Given the description of an element on the screen output the (x, y) to click on. 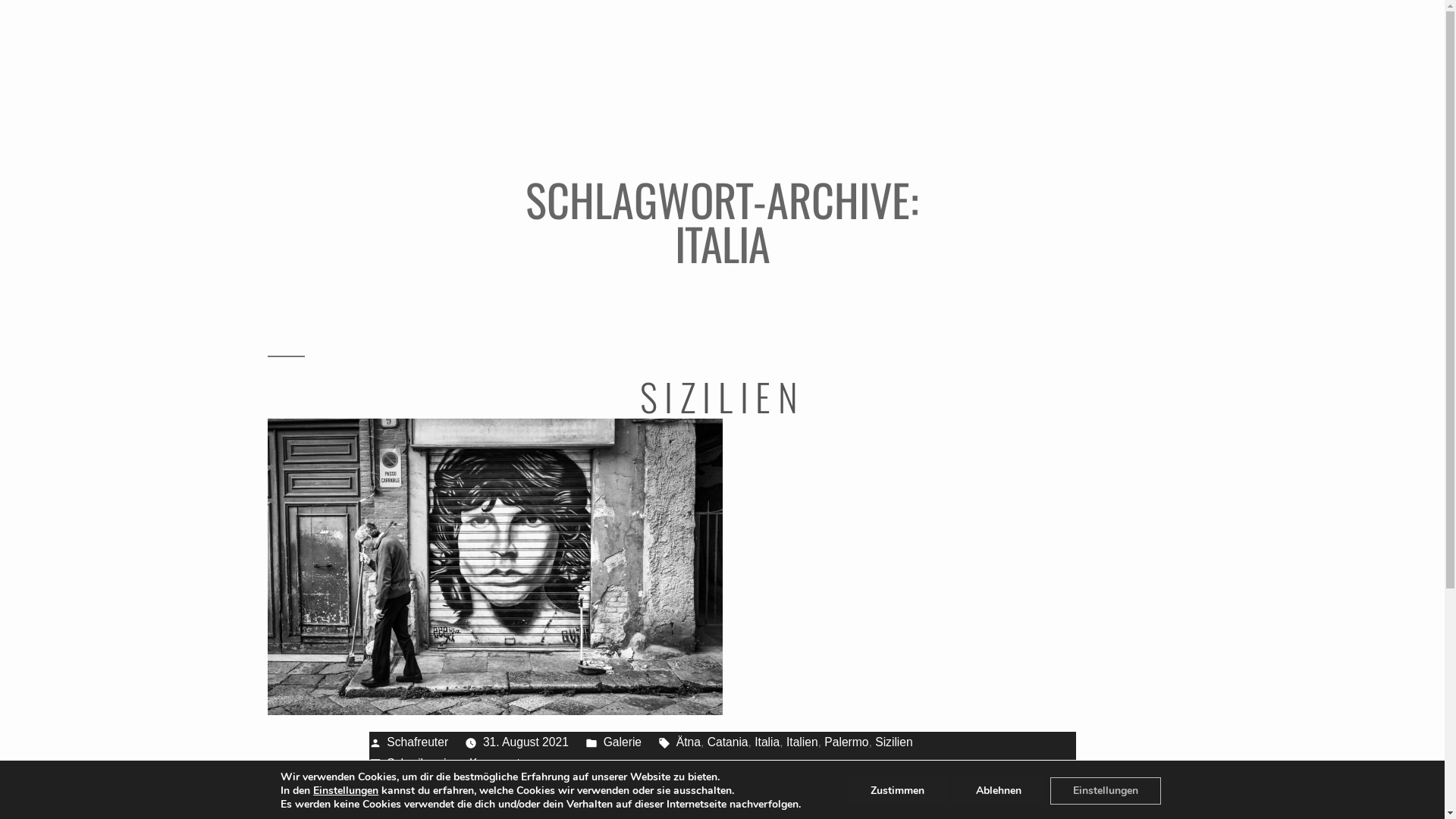
31. August 2021 Element type: text (525, 741)
Italien Element type: text (802, 741)
Ablehnen Element type: text (998, 790)
Galerie Element type: text (622, 741)
Catania Element type: text (727, 741)
Sizilien Element type: text (894, 741)
Einstellungen Element type: text (1105, 790)
Schreibe einen Kommentar
zu Sizilien Element type: text (458, 762)
Schafreuter Element type: text (417, 741)
Italia Element type: text (766, 741)
Zustimmen Element type: text (897, 790)
SIZILIEN Element type: text (722, 395)
Palermo Element type: text (846, 741)
